Given the description of an element on the screen output the (x, y) to click on. 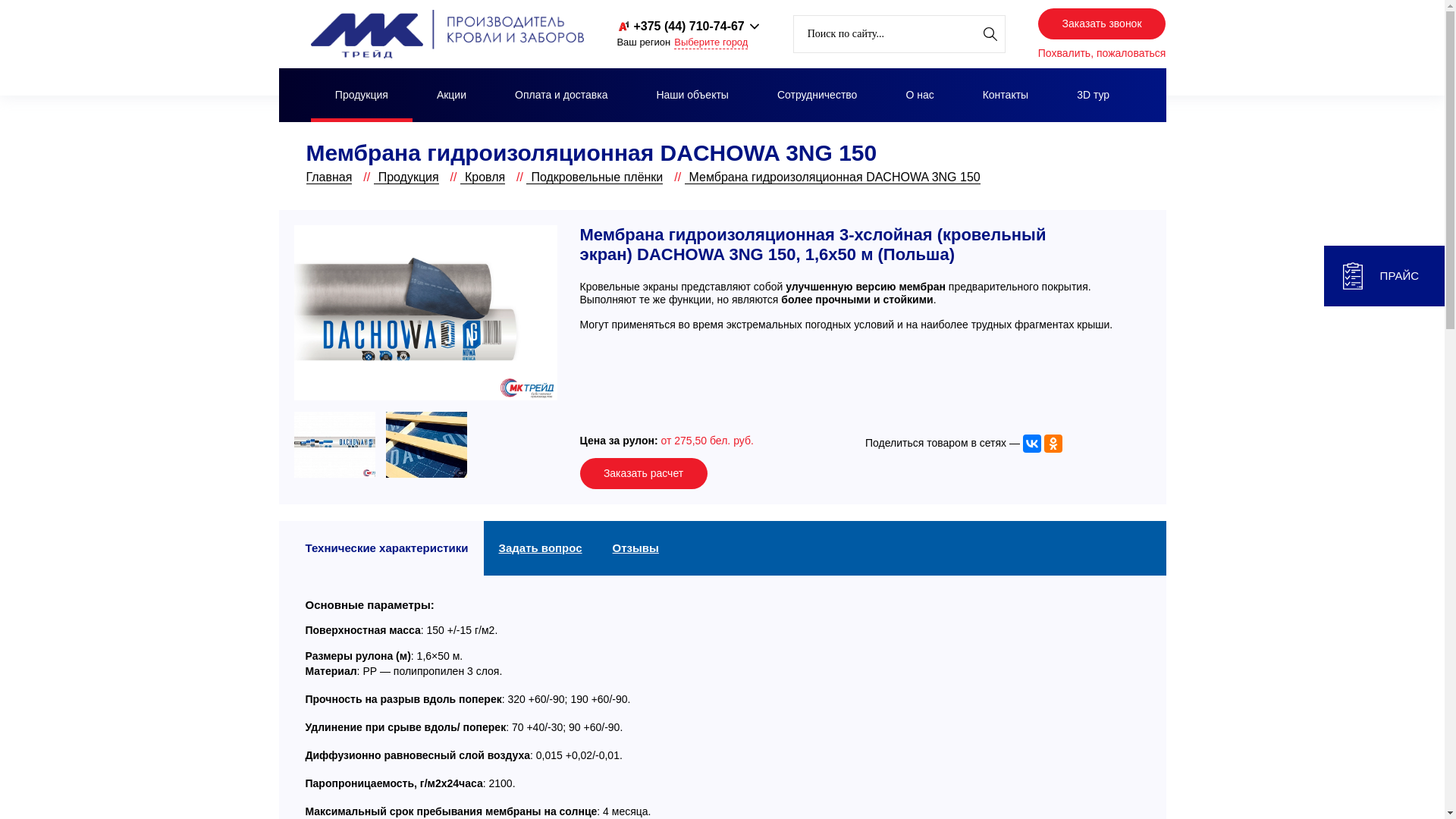
+375 (44) 710-74-67 Element type: text (679, 25)
